Given the description of an element on the screen output the (x, y) to click on. 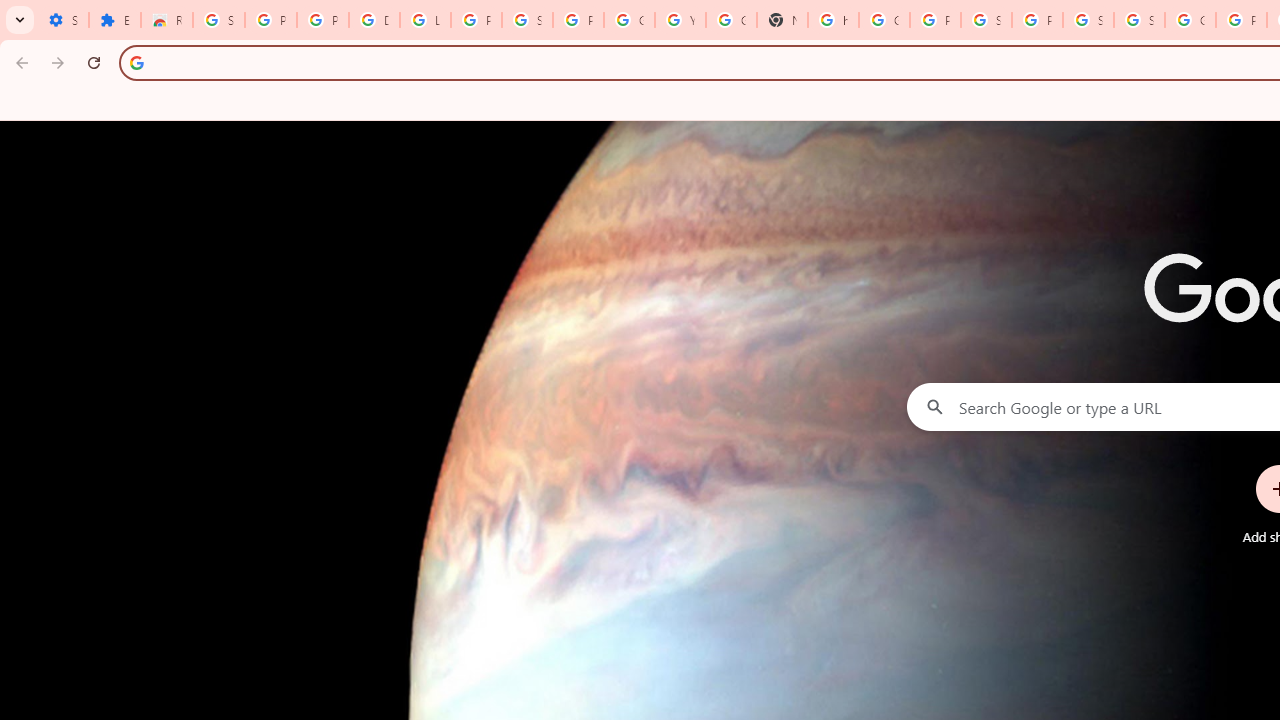
Sign in - Google Accounts (1138, 20)
Sign in - Google Accounts (1087, 20)
Privacy Help Center - Policies Help (1241, 20)
New Tab (781, 20)
